Given the description of an element on the screen output the (x, y) to click on. 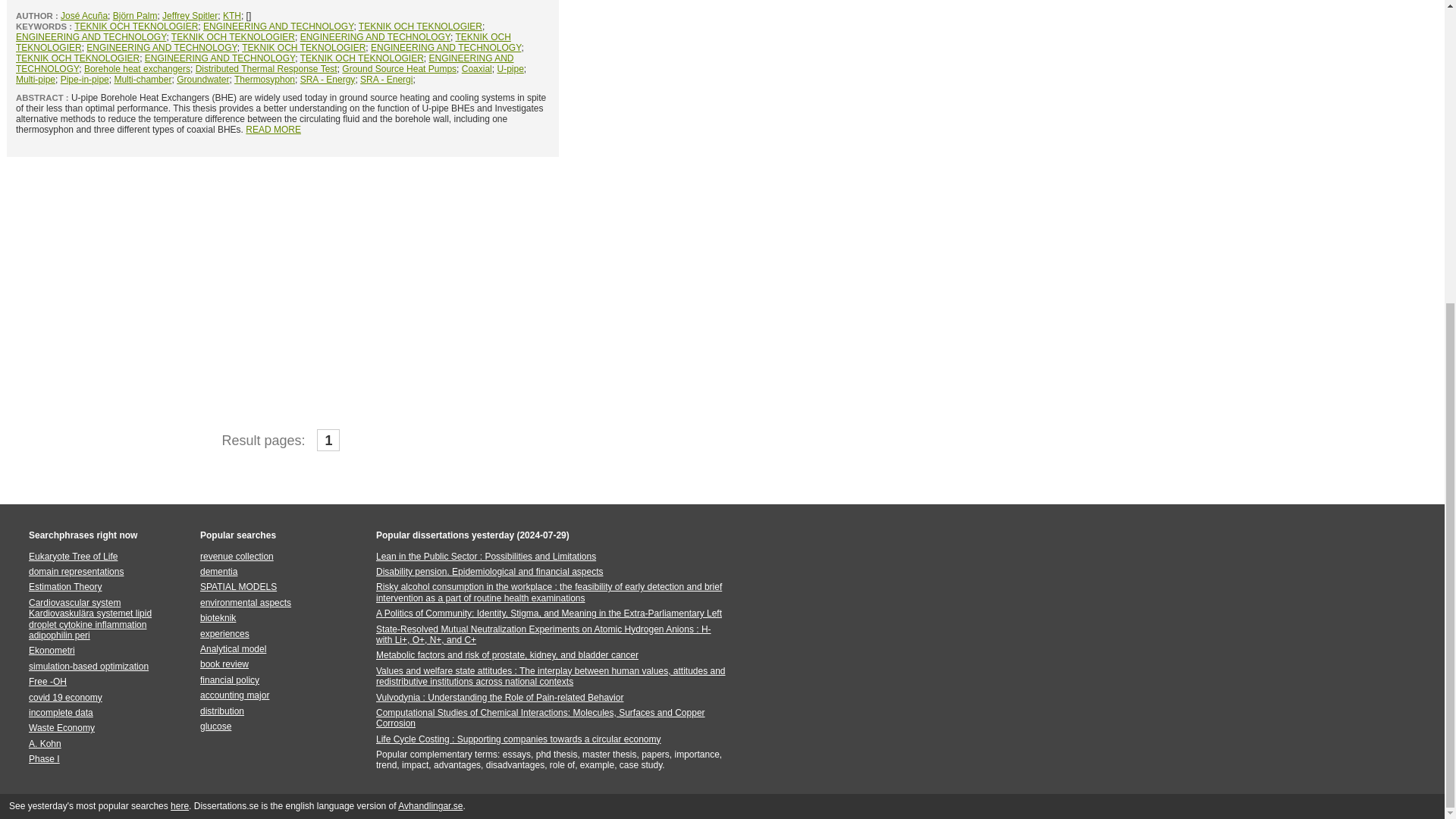
Groundwater (202, 79)
SRA - Energi (385, 79)
Coaxial (476, 68)
ENGINEERING AND TECHNOLOGY (264, 63)
U-pipe (509, 68)
Borehole heat exchangers (137, 68)
Pipe-in-pipe (85, 79)
Thermosyphon (264, 79)
TEKNIK OCH TEKNOLOGIER (136, 26)
Multi-chamber (142, 79)
Multi-pipe (35, 79)
ENGINEERING AND TECHNOLOGY (278, 26)
ENGINEERING AND TECHNOLOGY (90, 36)
TEKNIK OCH TEKNOLOGIER (77, 58)
Jeffrey Spitler (188, 15)
